Given the description of an element on the screen output the (x, y) to click on. 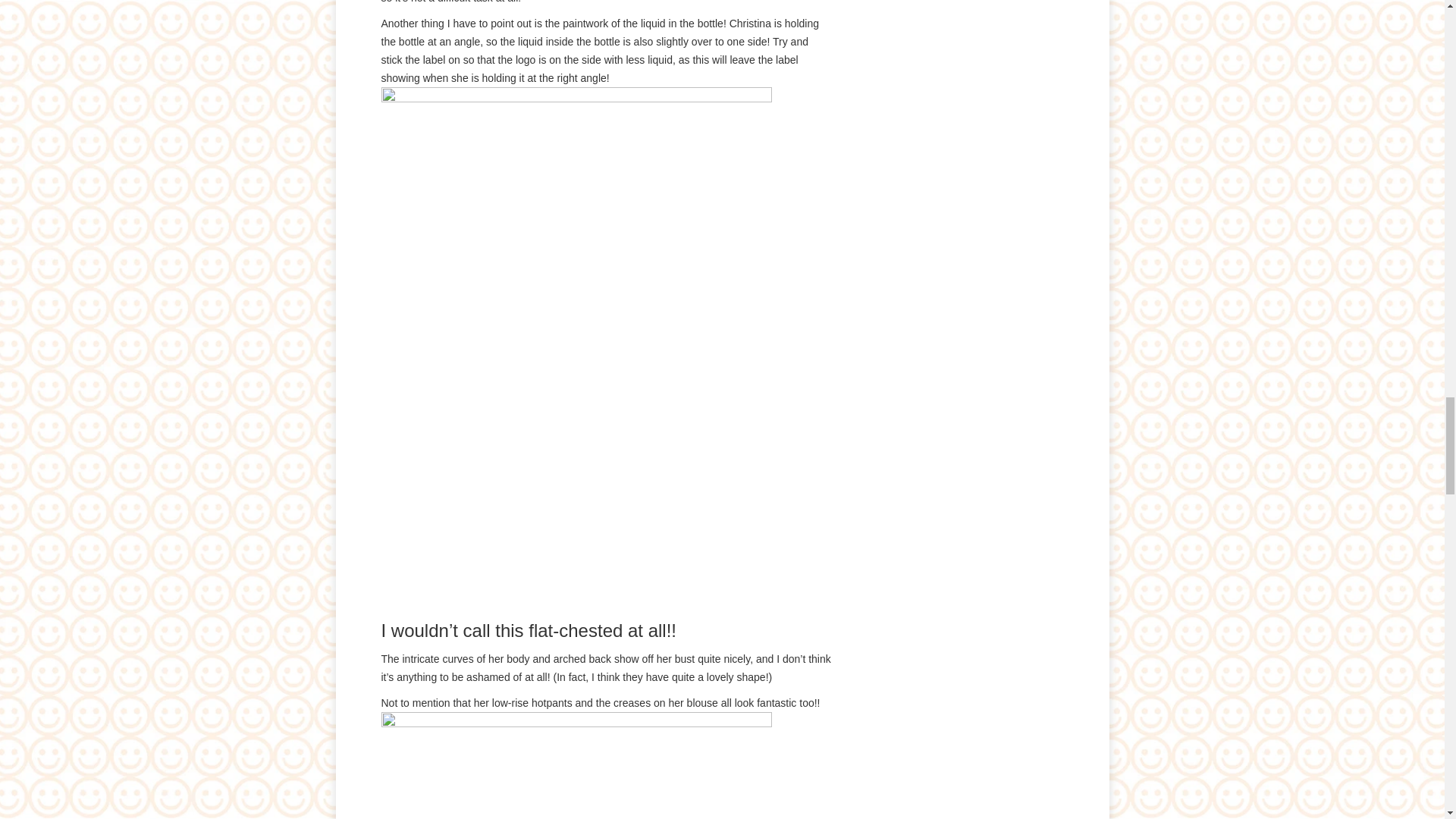
004 (575, 765)
